Given the description of an element on the screen output the (x, y) to click on. 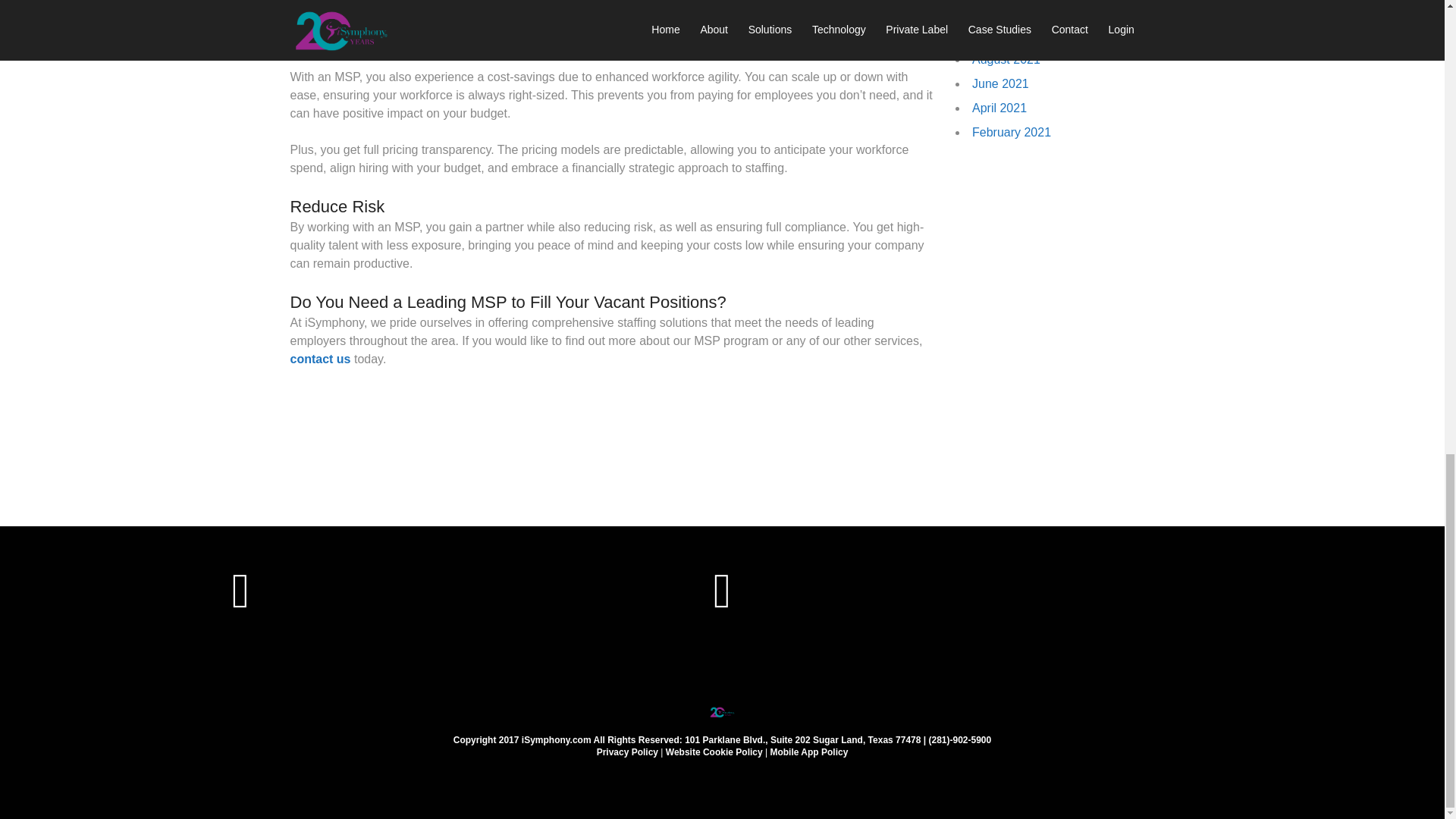
October 2021 (1008, 34)
contact us (319, 358)
Privacy Policy (627, 751)
June 2021 (1000, 83)
February 2021 (1011, 132)
April 2021 (999, 107)
August 2022 (1006, 10)
August 2021 (1006, 59)
